Given the description of an element on the screen output the (x, y) to click on. 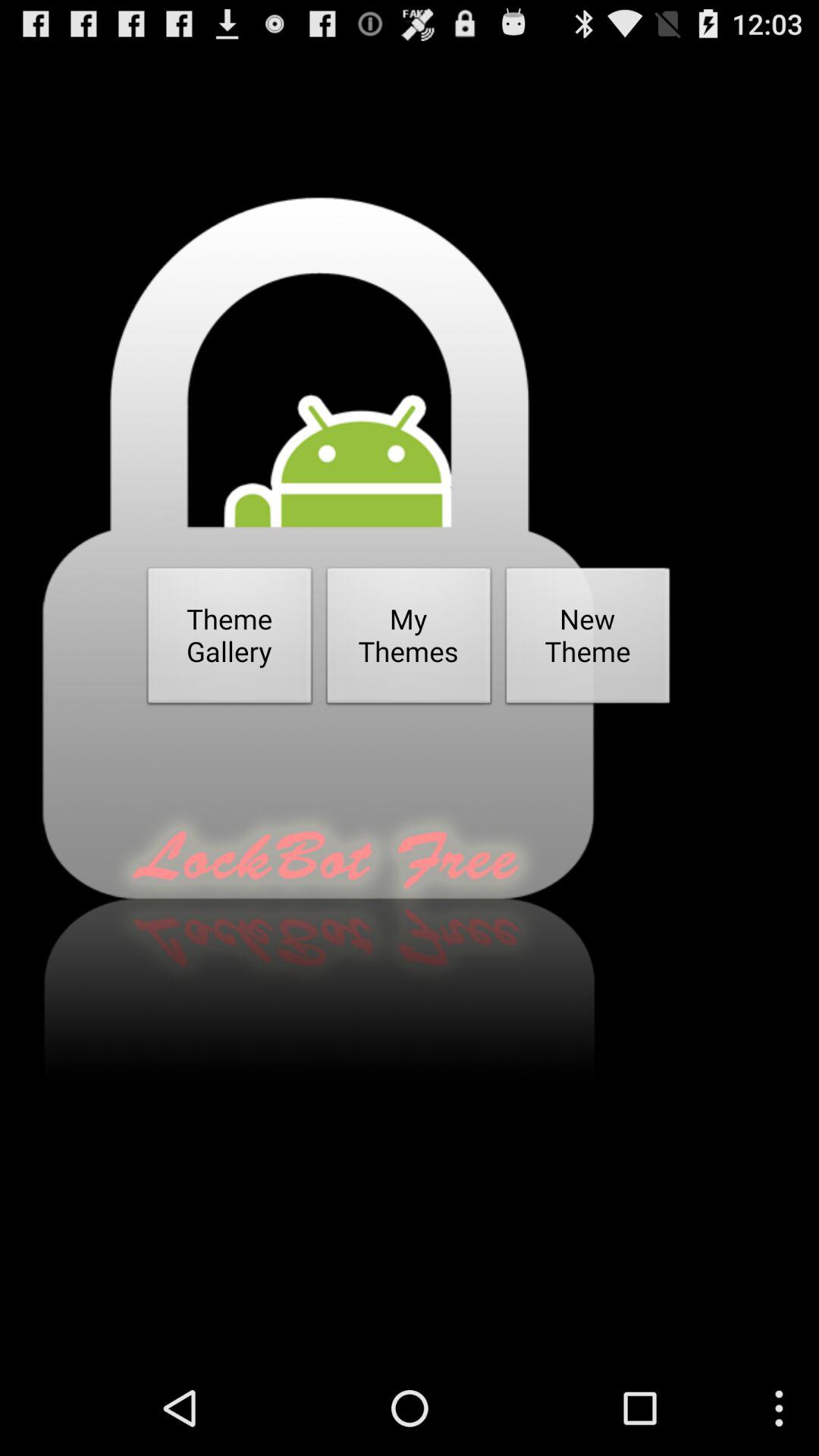
open theme gallery item (229, 639)
